Given the description of an element on the screen output the (x, y) to click on. 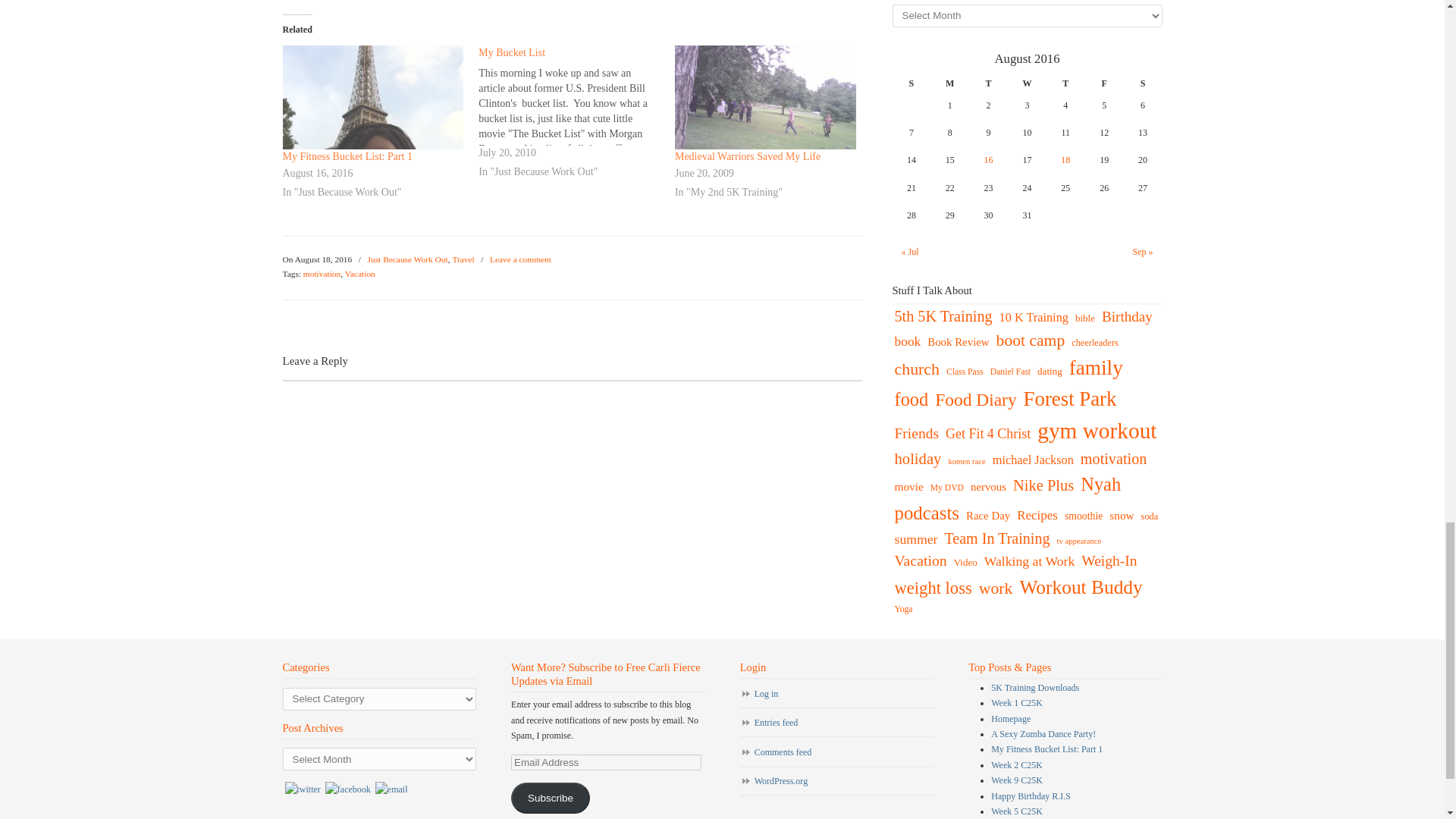
My Bucket List (511, 52)
My Fitness Bucket List:  Part 1 (347, 156)
My Bucket List (577, 114)
My Fitness Bucket List:  Part 1 (372, 96)
